Given the description of an element on the screen output the (x, y) to click on. 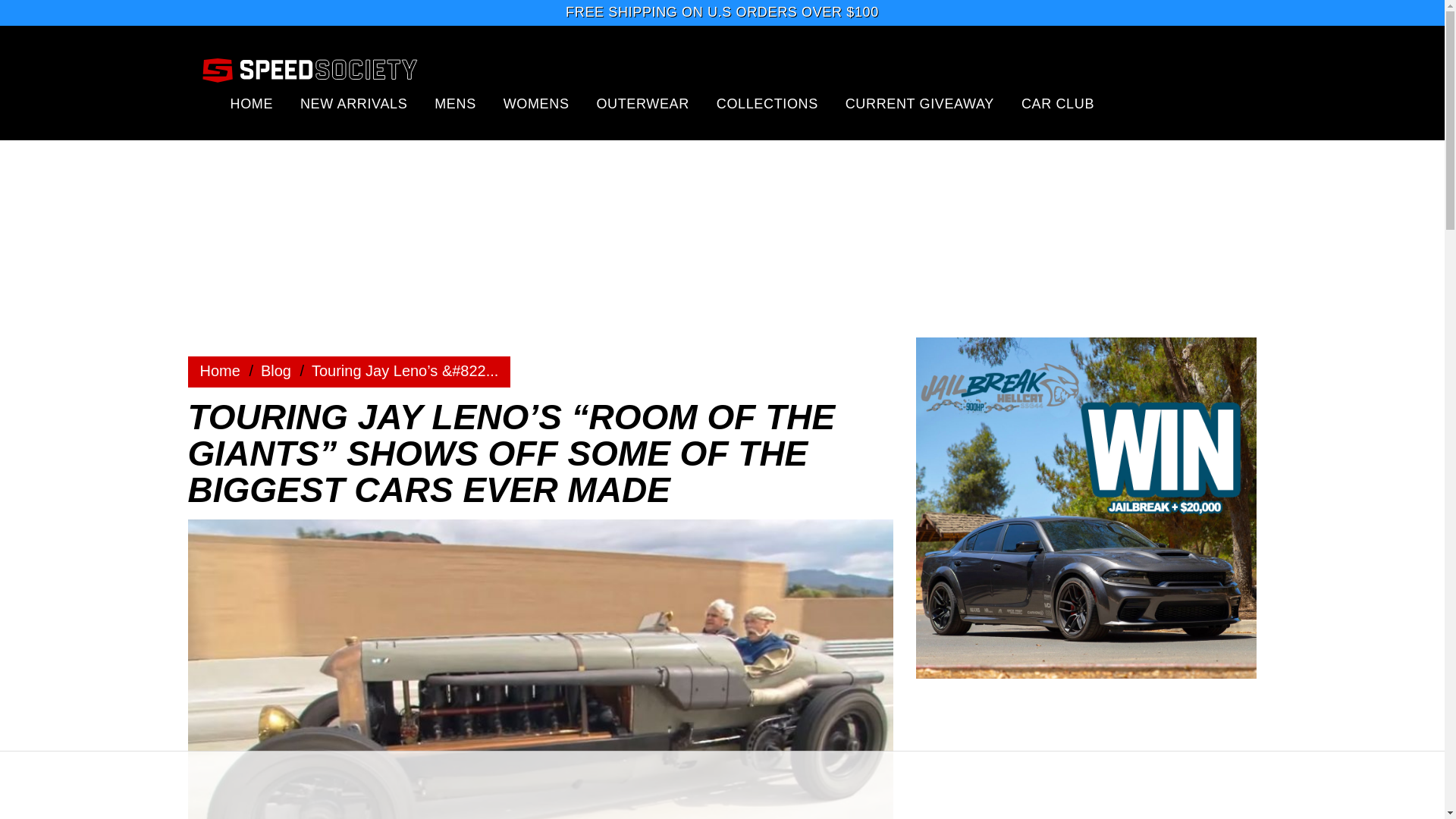
OUTERWEAR (641, 103)
NEW ARRIVALS (353, 103)
Home (220, 370)
Home (275, 370)
Home (220, 370)
MENS (454, 103)
speed society logo (308, 69)
CAR CLUB (1058, 103)
Blog (275, 370)
CURRENT GIVEAWAY (919, 103)
